Given the description of an element on the screen output the (x, y) to click on. 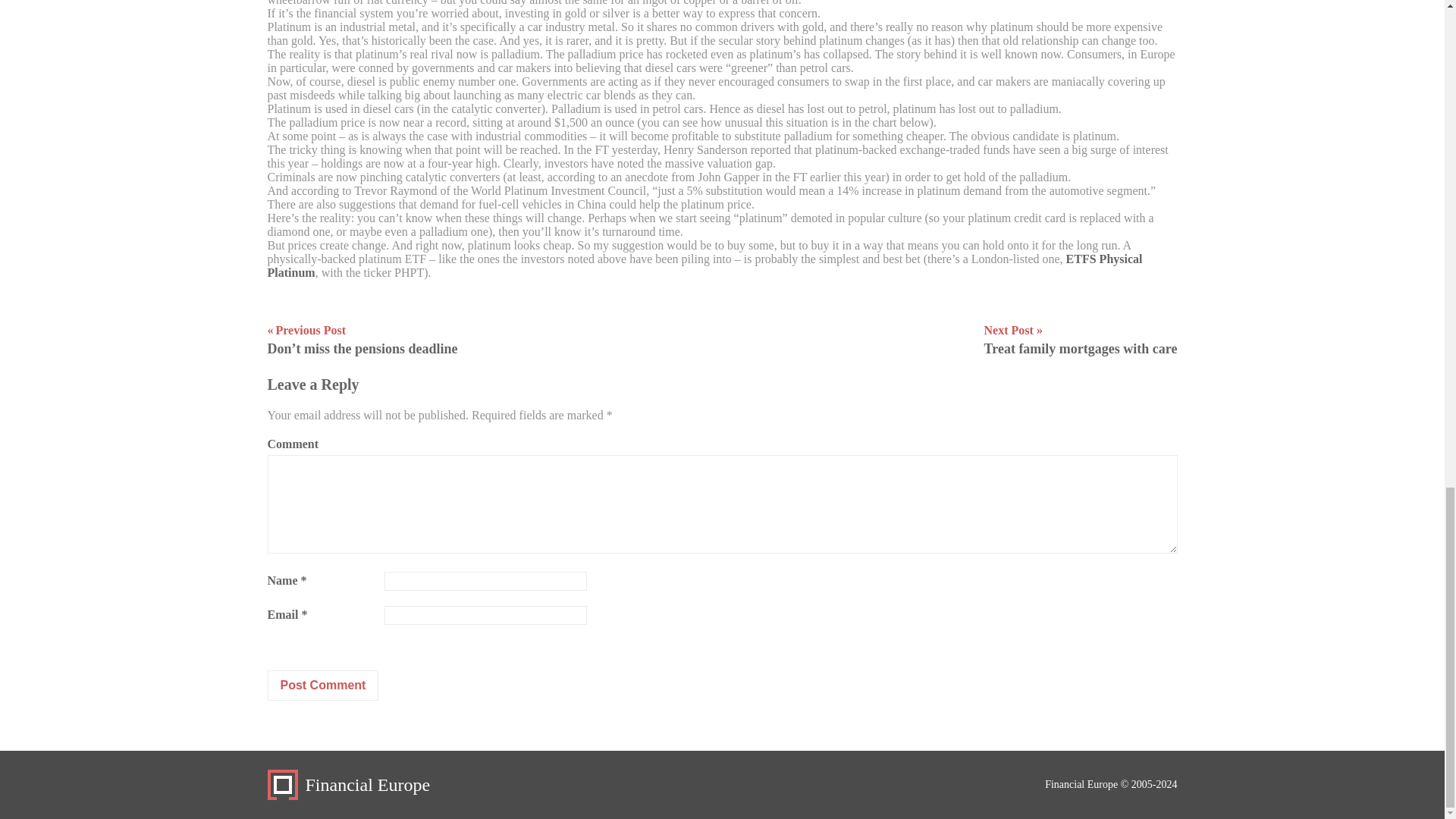
Post Comment (322, 685)
Post Comment (322, 685)
Financial Europe (347, 784)
